Given the description of an element on the screen output the (x, y) to click on. 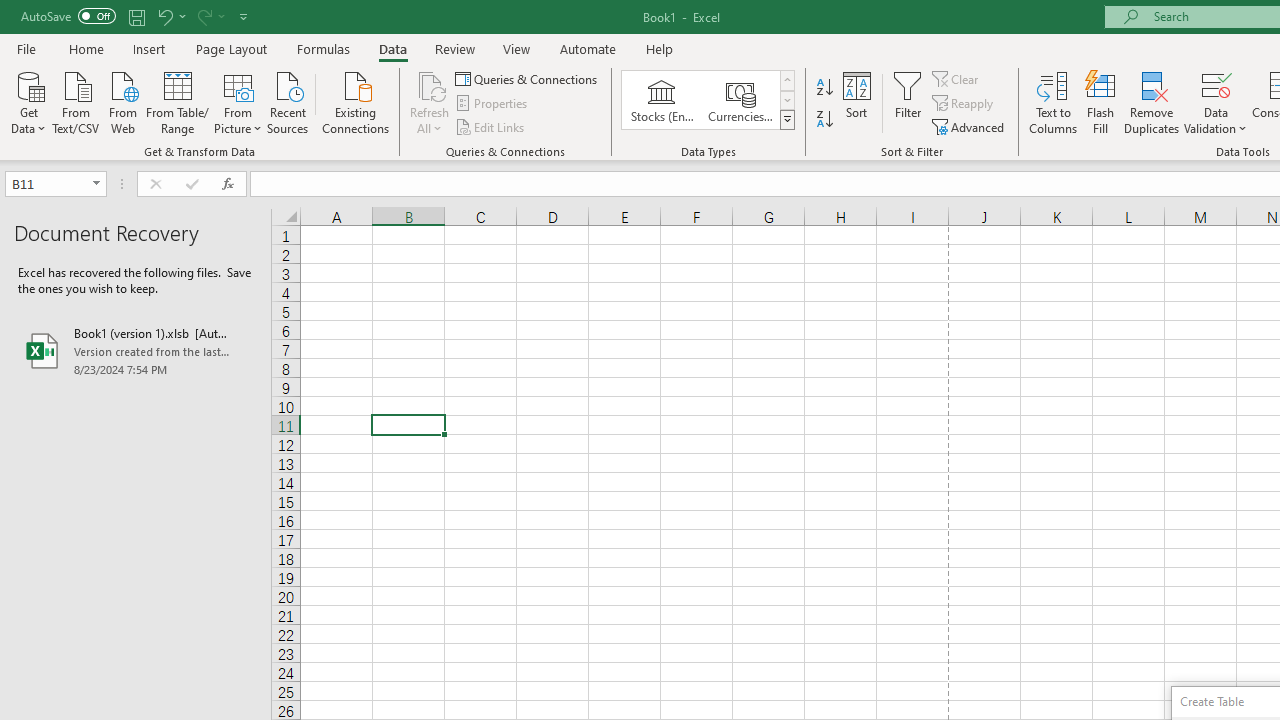
Help (660, 48)
Sort A to Z (824, 87)
From Web (122, 101)
AutomationID: ConvertToLinkedEntity (708, 99)
Queries & Connections (527, 78)
Text to Columns... (1053, 102)
Sort Z to A (824, 119)
Remove Duplicates (1151, 102)
Currencies (English) (740, 100)
Refresh All (429, 84)
Book1 (version 1).xlsb  [AutoRecovered] (136, 350)
Customize Quick Access Toolbar (244, 15)
